Given the description of an element on the screen output the (x, y) to click on. 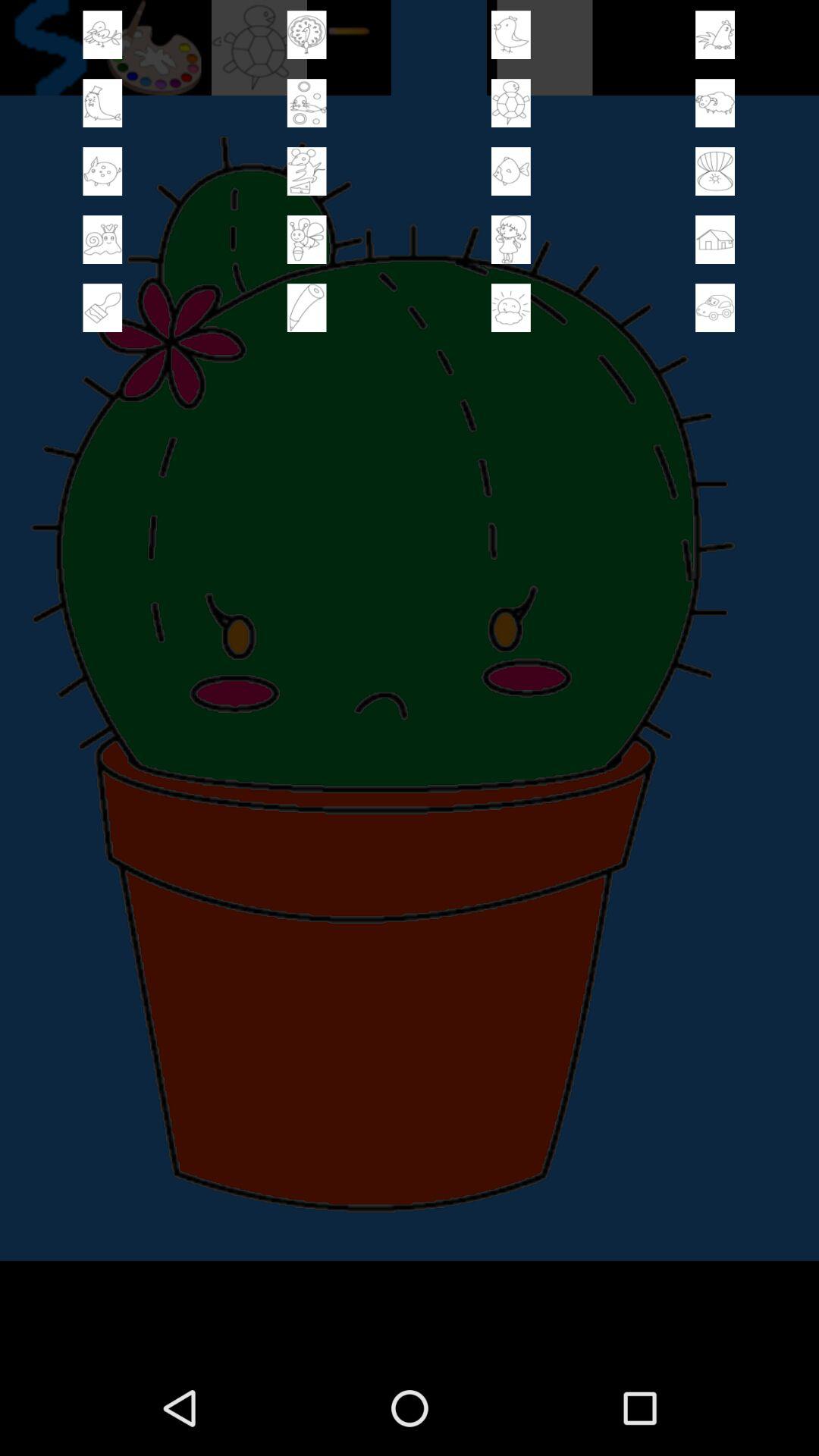
add image to picture (715, 171)
